Given the description of an element on the screen output the (x, y) to click on. 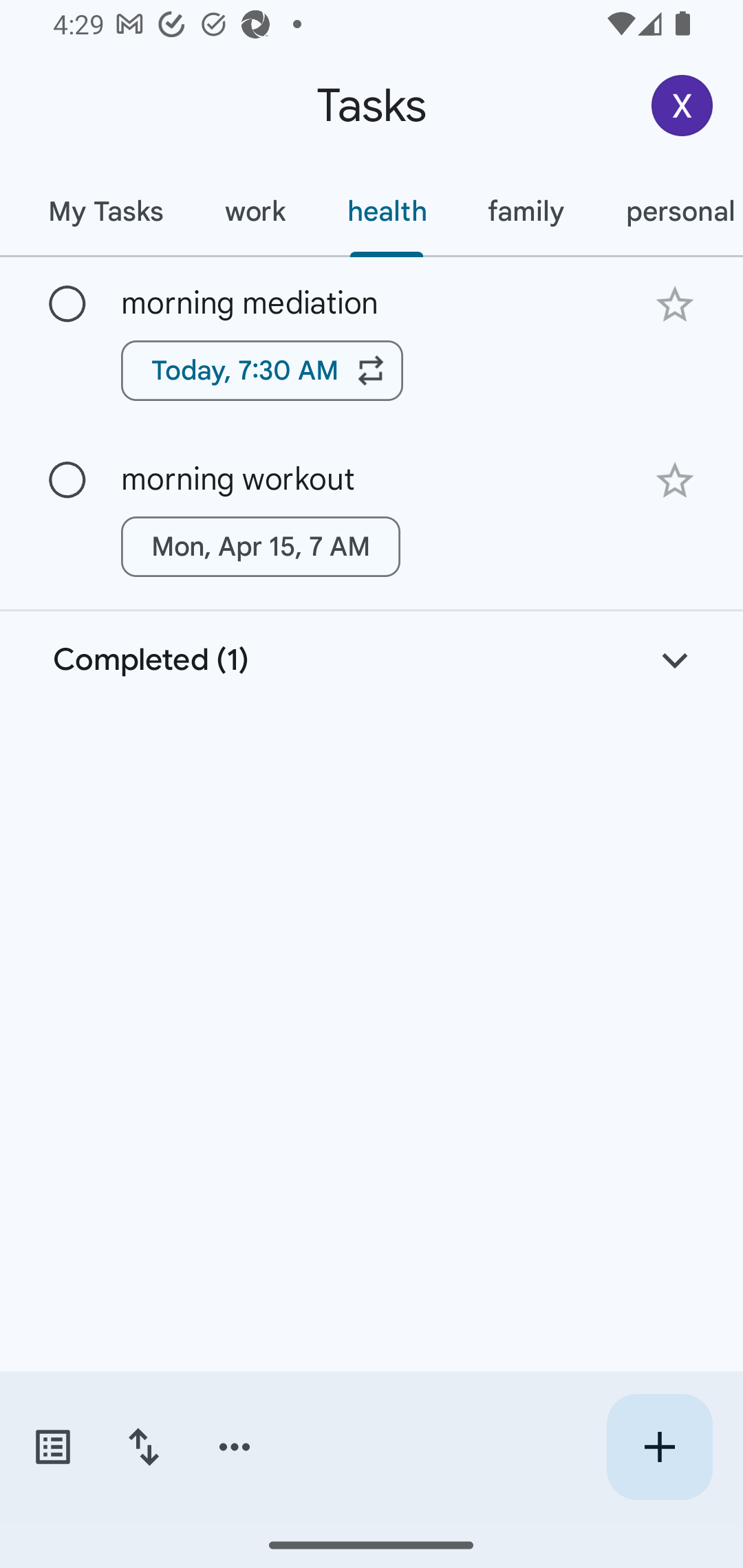
My Tasks (105, 211)
work (254, 211)
family (525, 211)
personal (669, 211)
Add star (674, 303)
Mark as complete (67, 304)
Today, 7:30 AM (262, 369)
Add star (674, 480)
Mark as complete (67, 480)
Mon, Apr 15, 7 AM (260, 546)
Completed (1) (371, 660)
Switch task lists (52, 1447)
Create new task (659, 1446)
Change sort order (143, 1446)
More options (234, 1446)
